Given the description of an element on the screen output the (x, y) to click on. 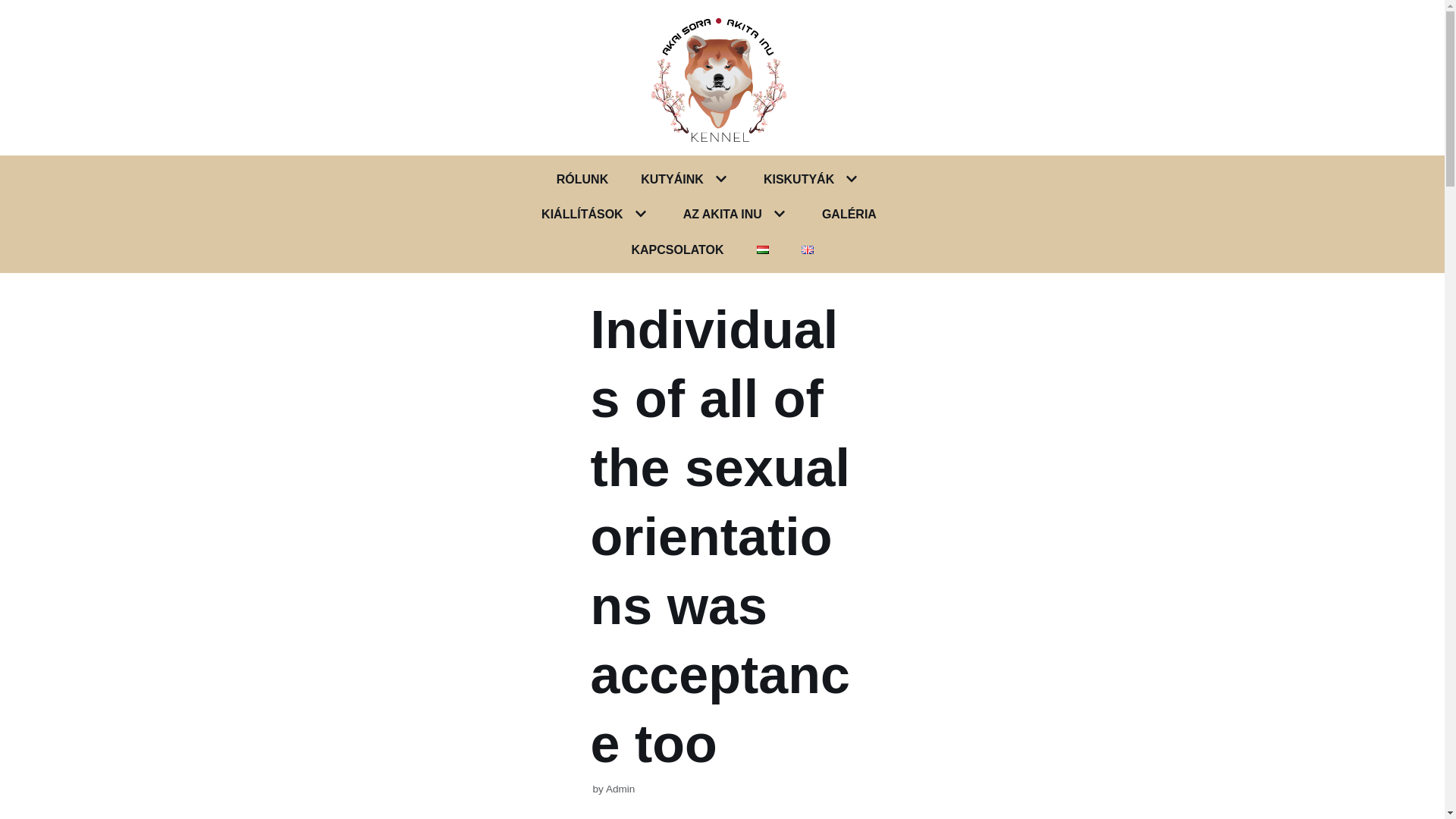
Akai sora- Akita inu kennel (722, 77)
KAPCSOLATOK (676, 249)
Posts by Admin (619, 788)
Skip to content (15, 7)
AZ AKITA INU (721, 213)
